Given the description of an element on the screen output the (x, y) to click on. 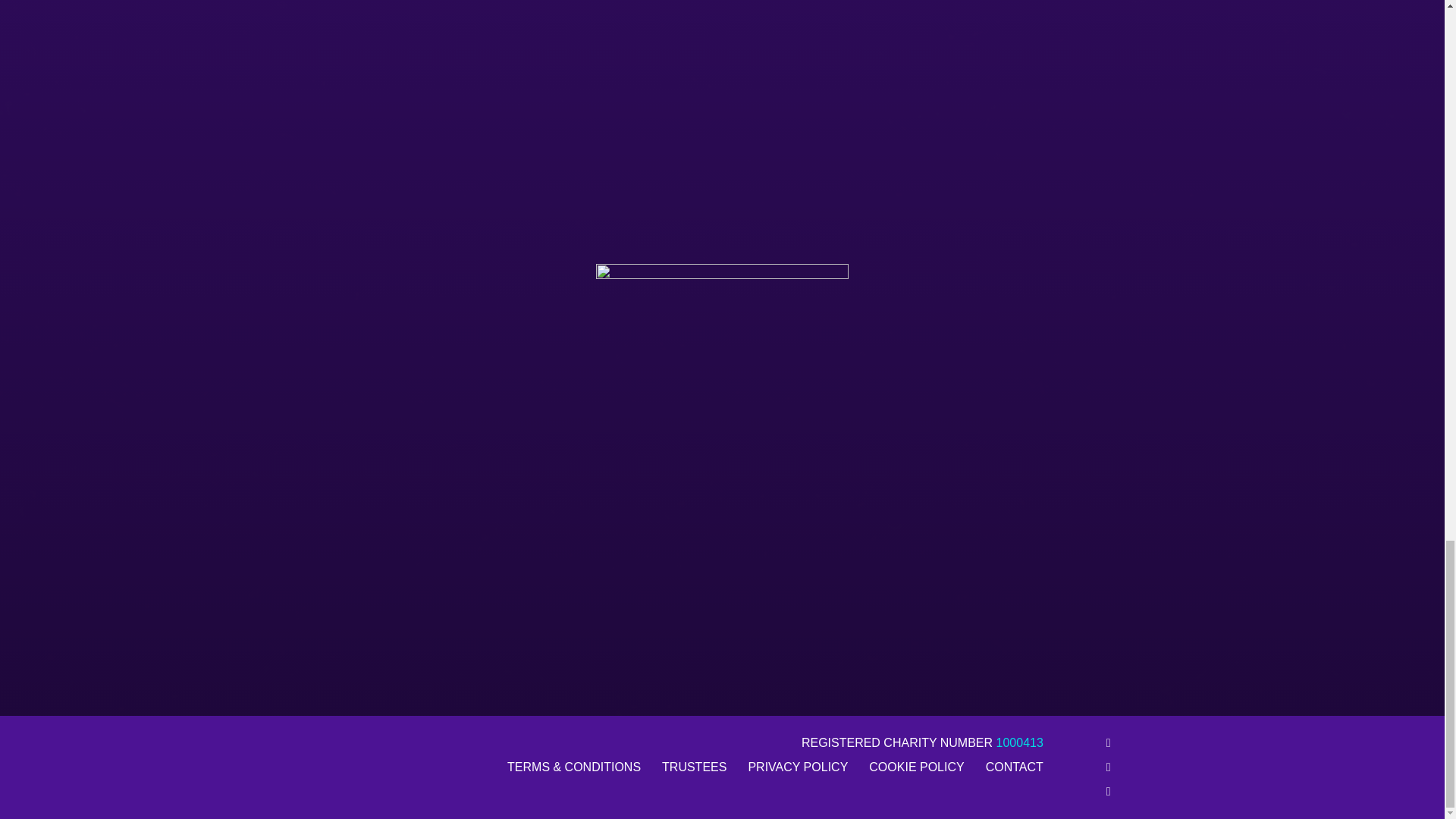
Privacy policy (797, 766)
Trustees (694, 766)
TRUSTEES (694, 766)
Cookie policy (916, 766)
CONTACT (1014, 766)
Contact (1014, 766)
PRIVACY POLICY (797, 766)
COOKIE POLICY (916, 766)
1000413 (1019, 742)
